Given the description of an element on the screen output the (x, y) to click on. 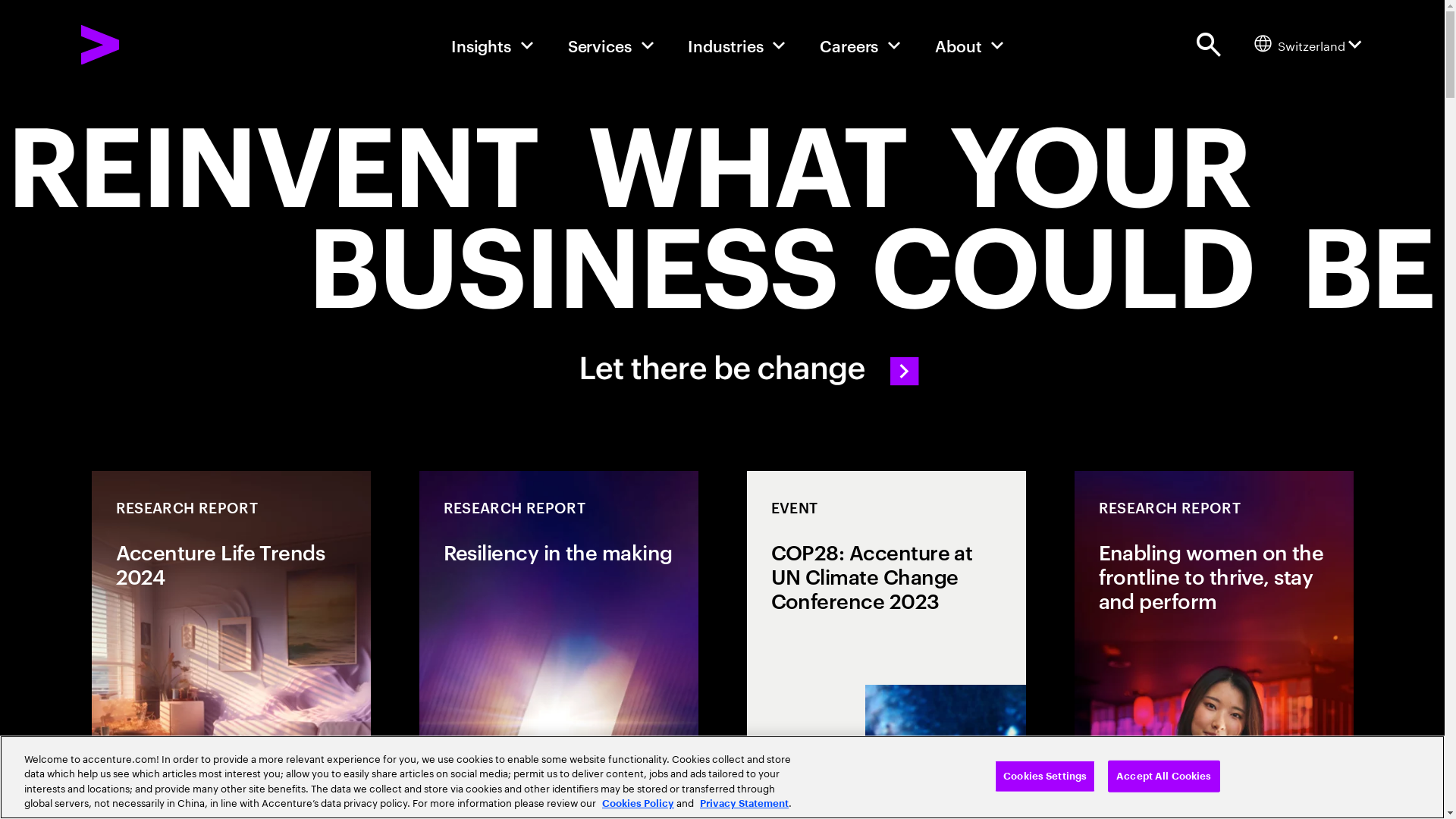
Privacy Statement Element type: text (743, 803)
Cookies Settings Element type: text (1044, 776)
Industries Element type: text (736, 44)
Careers Element type: text (860, 44)
Services Element type: text (611, 44)
Cookies Policy Element type: text (638, 803)
Let there be change Element type: hover (722, 248)
Insights Element type: text (492, 44)
About Element type: text (969, 44)
Accept All Cookies Element type: text (1163, 776)
Switzerland Element type: text (1307, 44)
